Given the description of an element on the screen output the (x, y) to click on. 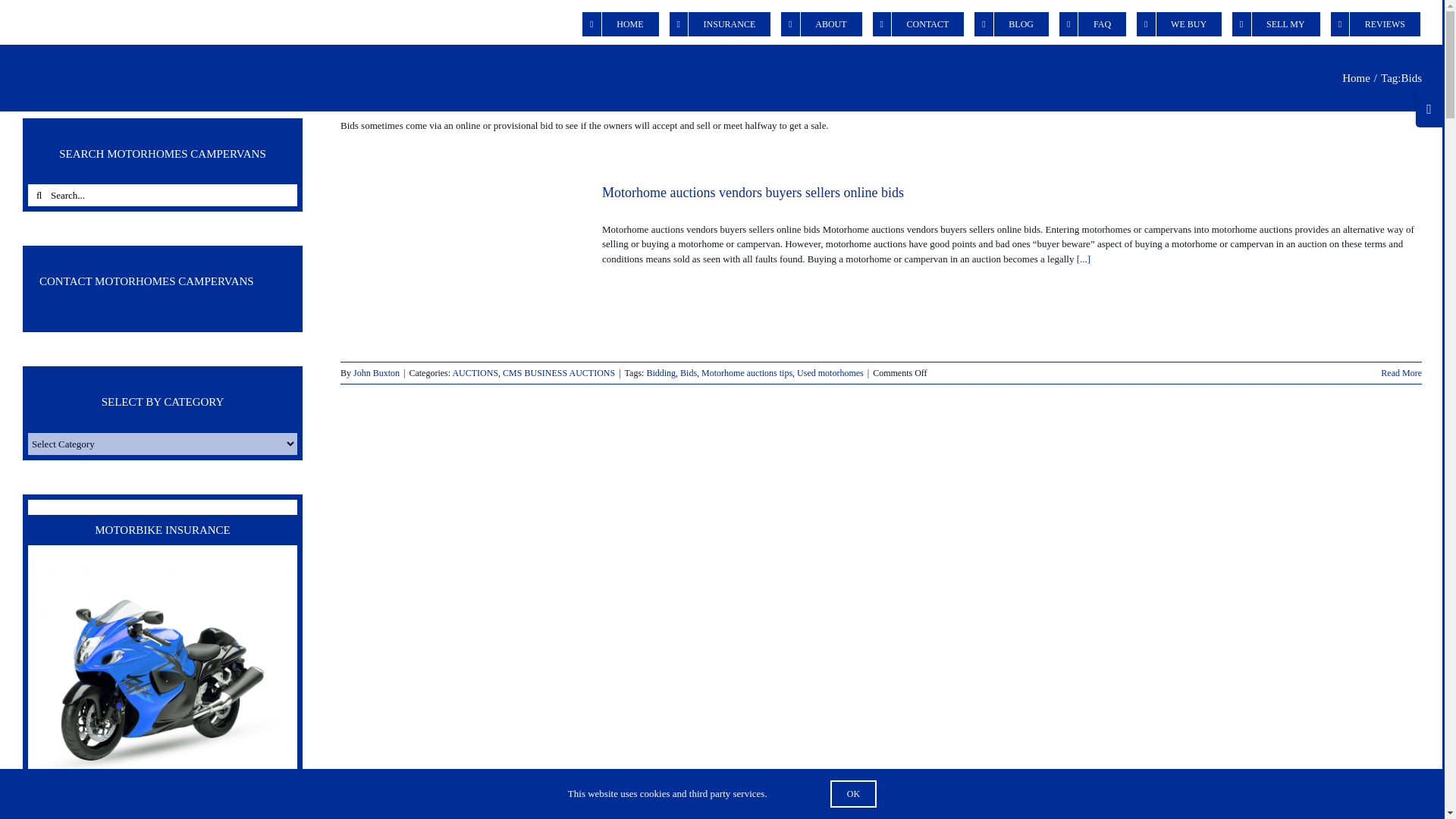
BLOG (1010, 23)
MOTORBIKE INSURANCE (162, 680)
FAQ (1092, 23)
SELL MY (1276, 23)
WE BUY (1179, 23)
HOME (619, 23)
CONTACT (918, 23)
INSURANCE (720, 23)
Posts by John Buxton (375, 372)
ABOUT (820, 23)
